Given the description of an element on the screen output the (x, y) to click on. 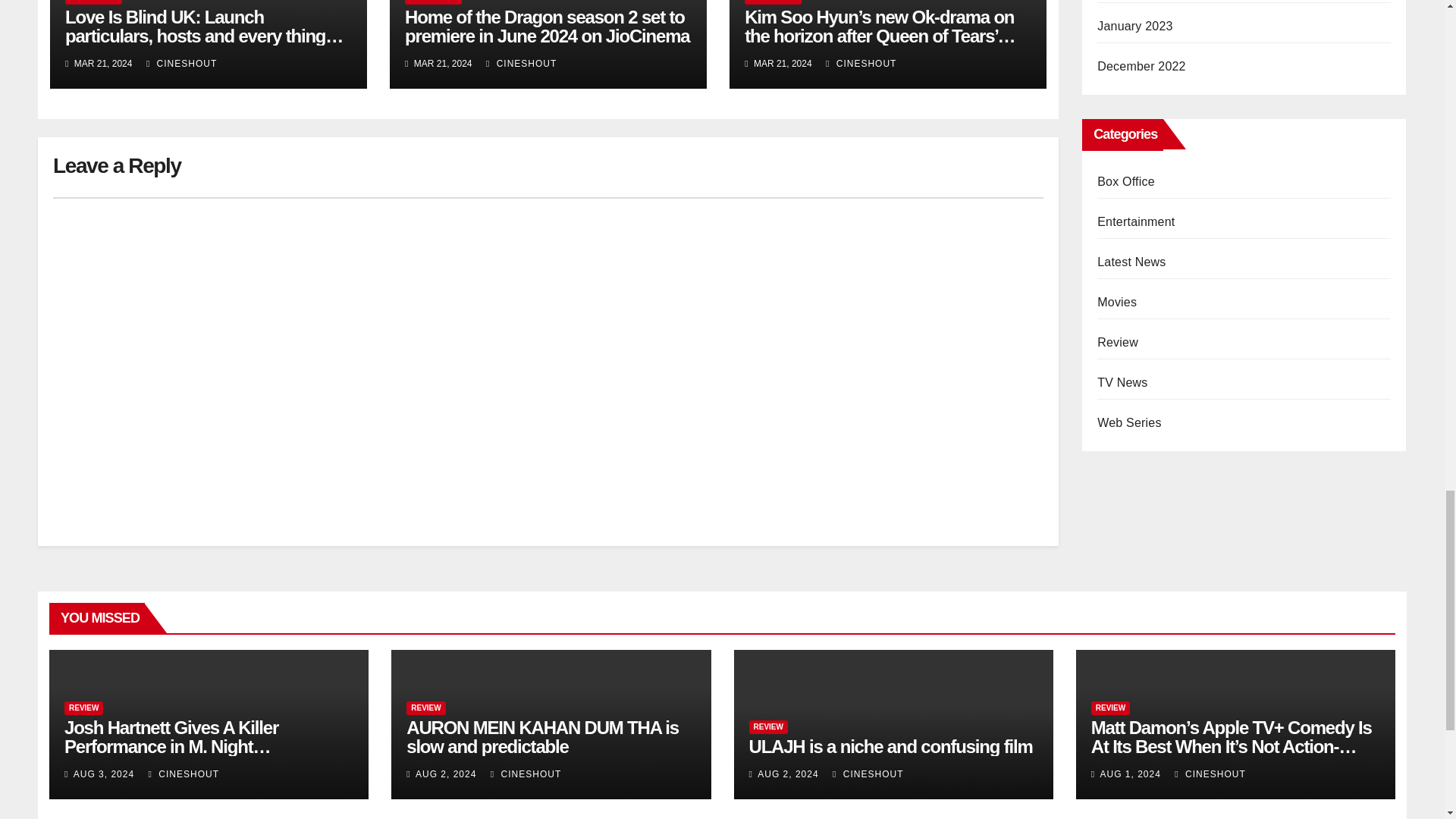
CINESHOUT (521, 63)
WEB SERIES (93, 2)
WEB SERIES (432, 2)
CINESHOUT (860, 63)
CINESHOUT (181, 63)
WEB SERIES (773, 2)
